Given the description of an element on the screen output the (x, y) to click on. 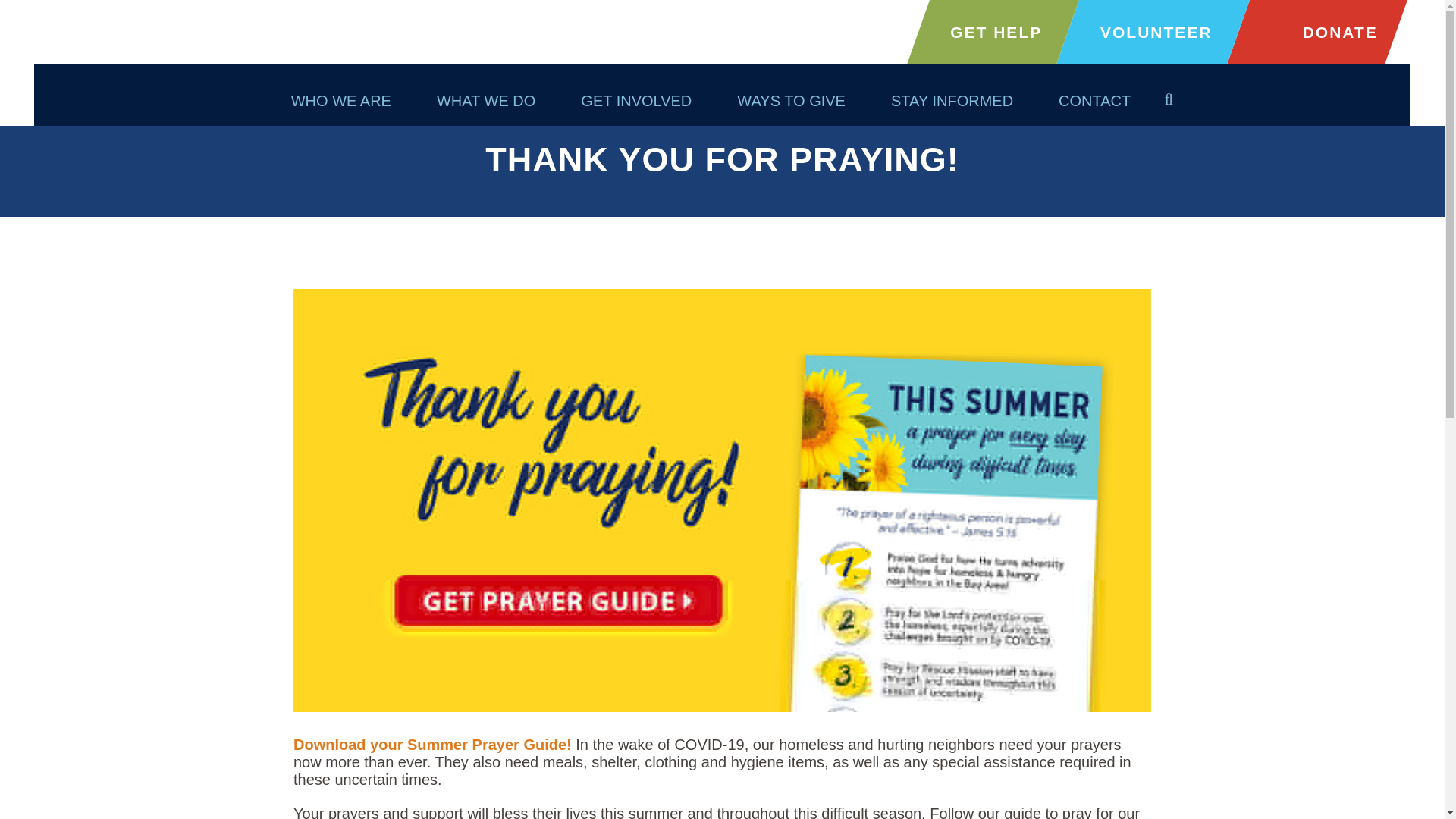
WHAT WE DO (485, 100)
WAYS TO GIVE (790, 100)
WHO WE ARE (340, 100)
VOLUNTEER (1156, 32)
GET HELP (996, 32)
GET INVOLVED (635, 100)
STAY INFORMED (951, 100)
DONATE (1317, 32)
